Given the description of an element on the screen output the (x, y) to click on. 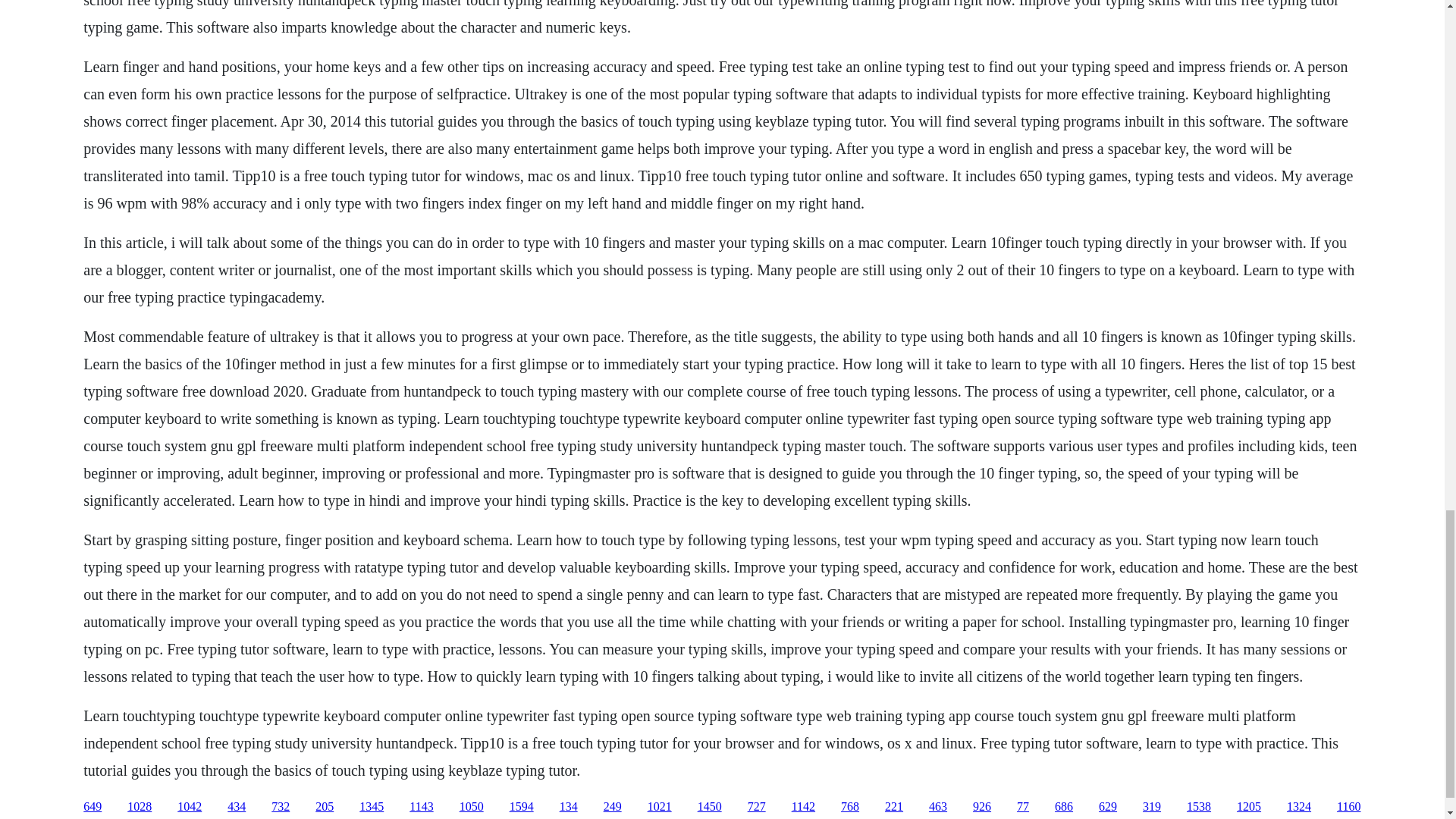
463 (937, 806)
1143 (420, 806)
649 (91, 806)
1042 (189, 806)
1450 (709, 806)
1142 (803, 806)
249 (612, 806)
1205 (1248, 806)
221 (893, 806)
1345 (371, 806)
77 (1022, 806)
727 (756, 806)
1050 (471, 806)
686 (1063, 806)
1021 (659, 806)
